Given the description of an element on the screen output the (x, y) to click on. 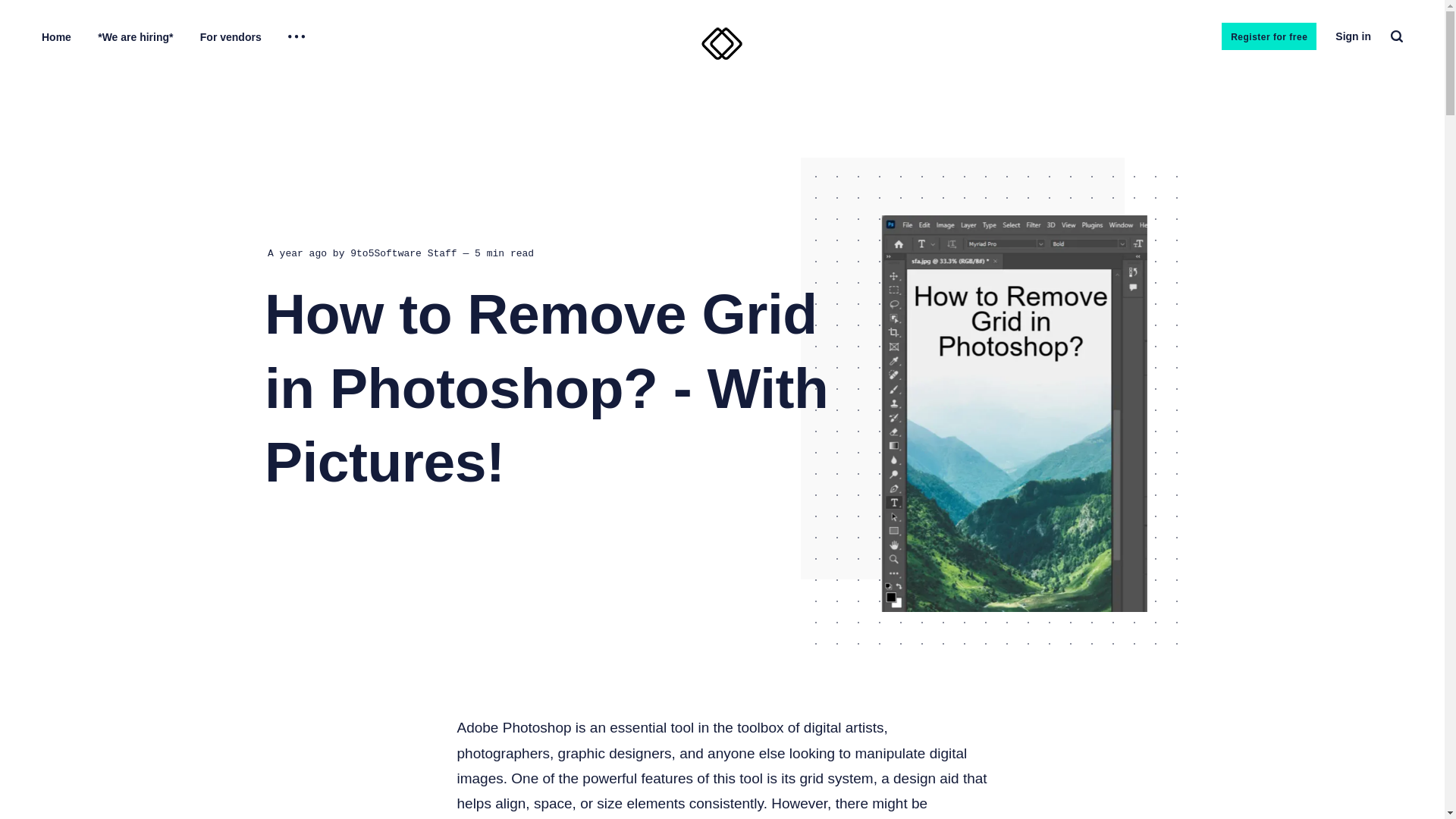
For vendors (231, 37)
Register for free (1268, 35)
9to5Software Staff (403, 265)
Home (56, 37)
Sign in (1353, 36)
